Given the description of an element on the screen output the (x, y) to click on. 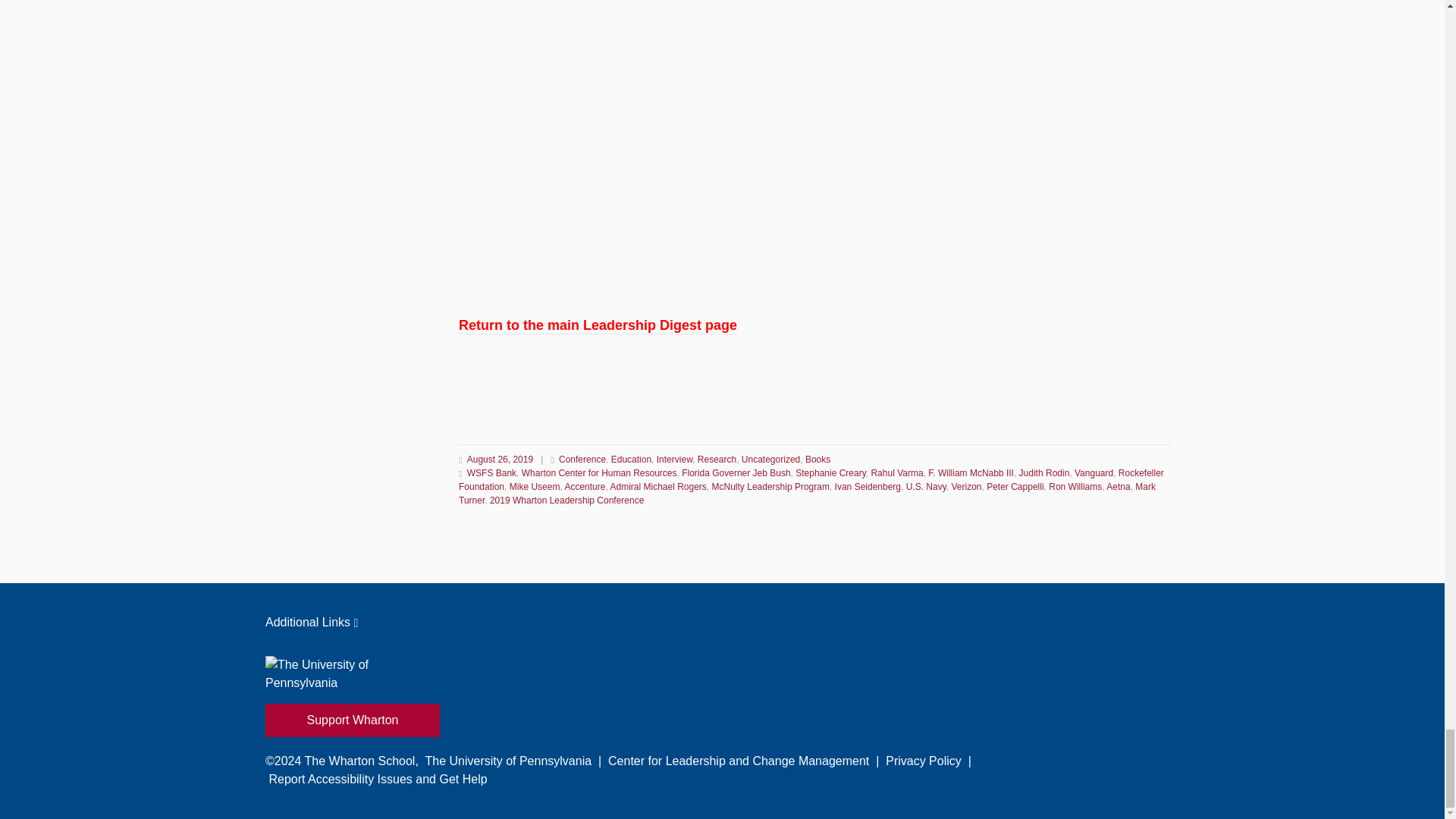
Additional Links (721, 622)
Center for Leadership and Change Management (738, 760)
Give to Wharton (351, 720)
1:07 pm (499, 459)
